Given the description of an element on the screen output the (x, y) to click on. 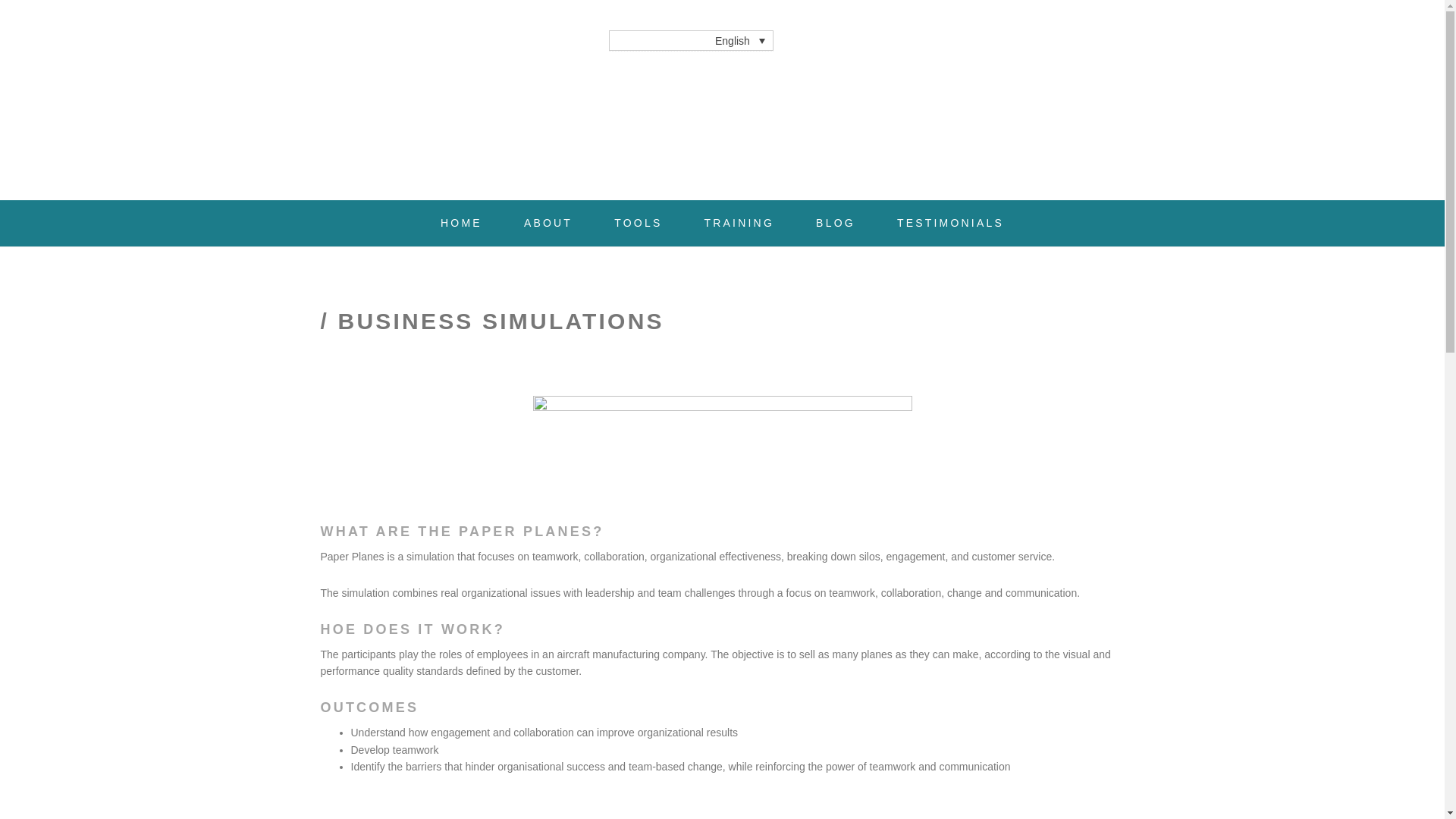
People for Success (440, 105)
TOOLS (637, 222)
ABOUT (548, 222)
TESTIMONIALS (950, 222)
HOME (461, 222)
TRAINING (739, 222)
BLOG (835, 222)
English (690, 40)
